Given the description of an element on the screen output the (x, y) to click on. 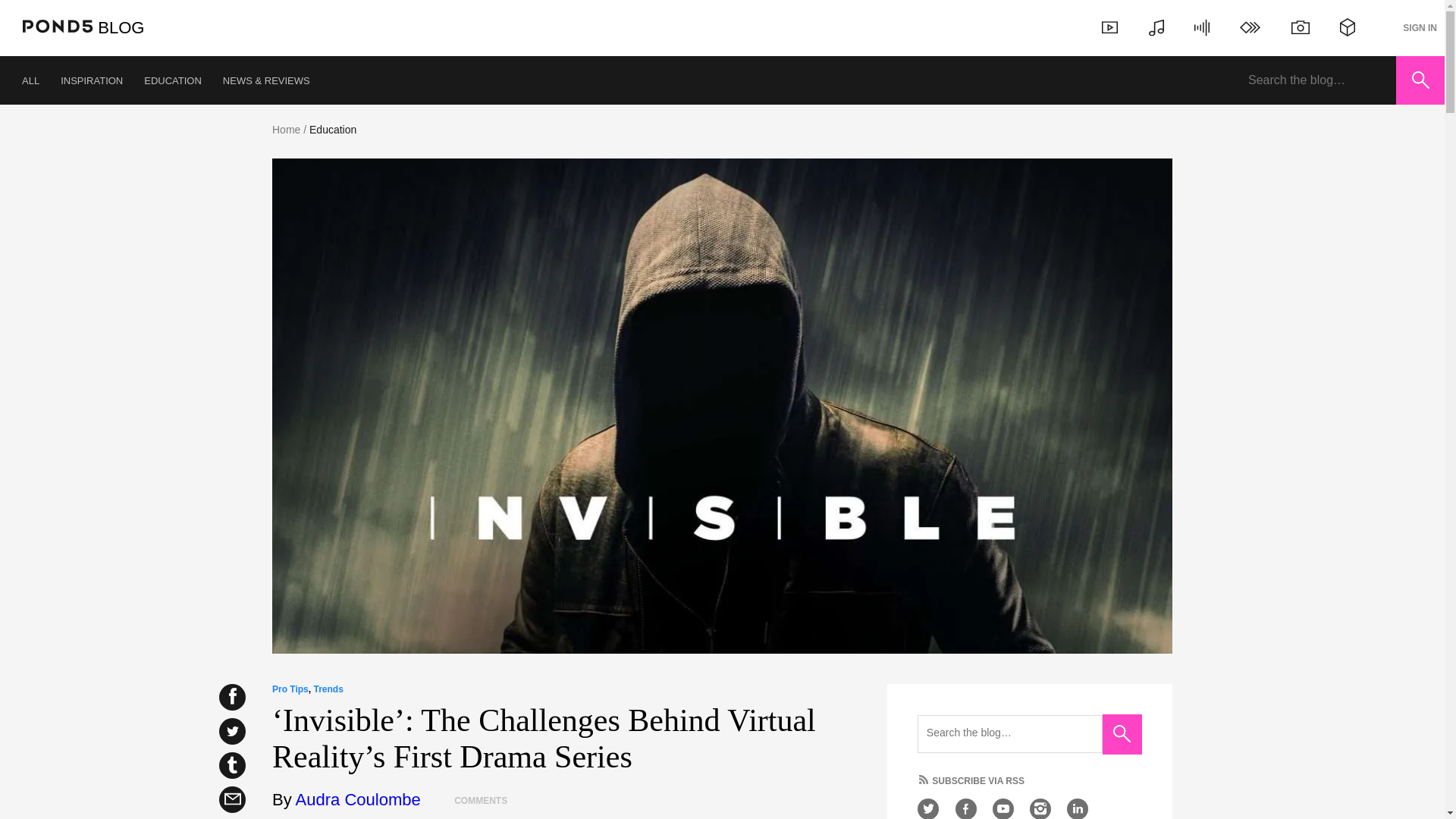
EDUCATION (172, 79)
Education (332, 129)
Pro Tips (290, 688)
Home (285, 129)
Trends (327, 688)
INSPIRATION (91, 79)
BLOG (120, 27)
Search for: (1316, 79)
Audra Coulombe (357, 799)
ALL (30, 79)
